Given the description of an element on the screen output the (x, y) to click on. 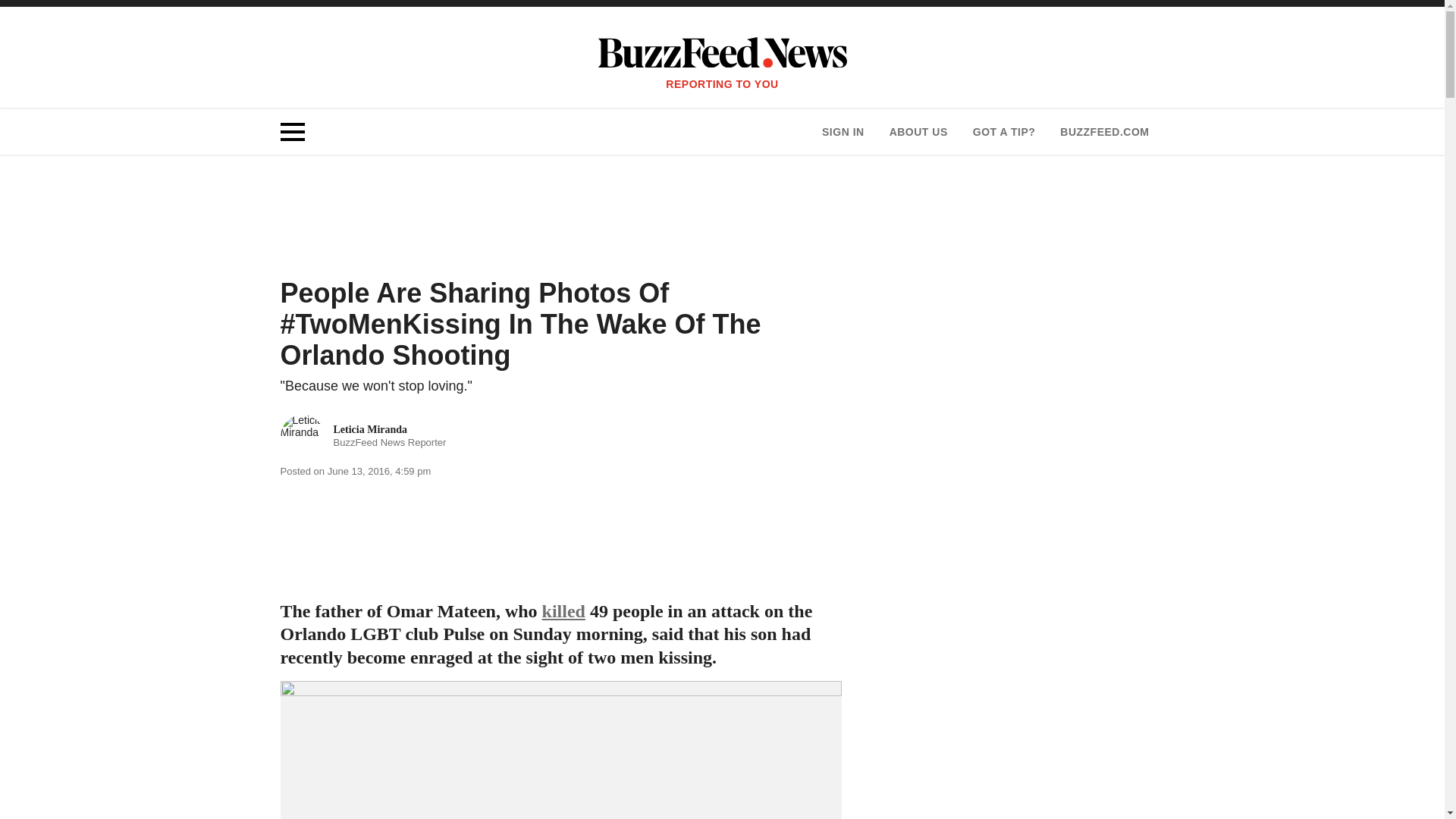
ABOUT US (917, 131)
BUZZFEED.COM (1103, 131)
SIGN IN (842, 131)
killed (563, 610)
GOT A TIP? (1003, 131)
